Given the description of an element on the screen output the (x, y) to click on. 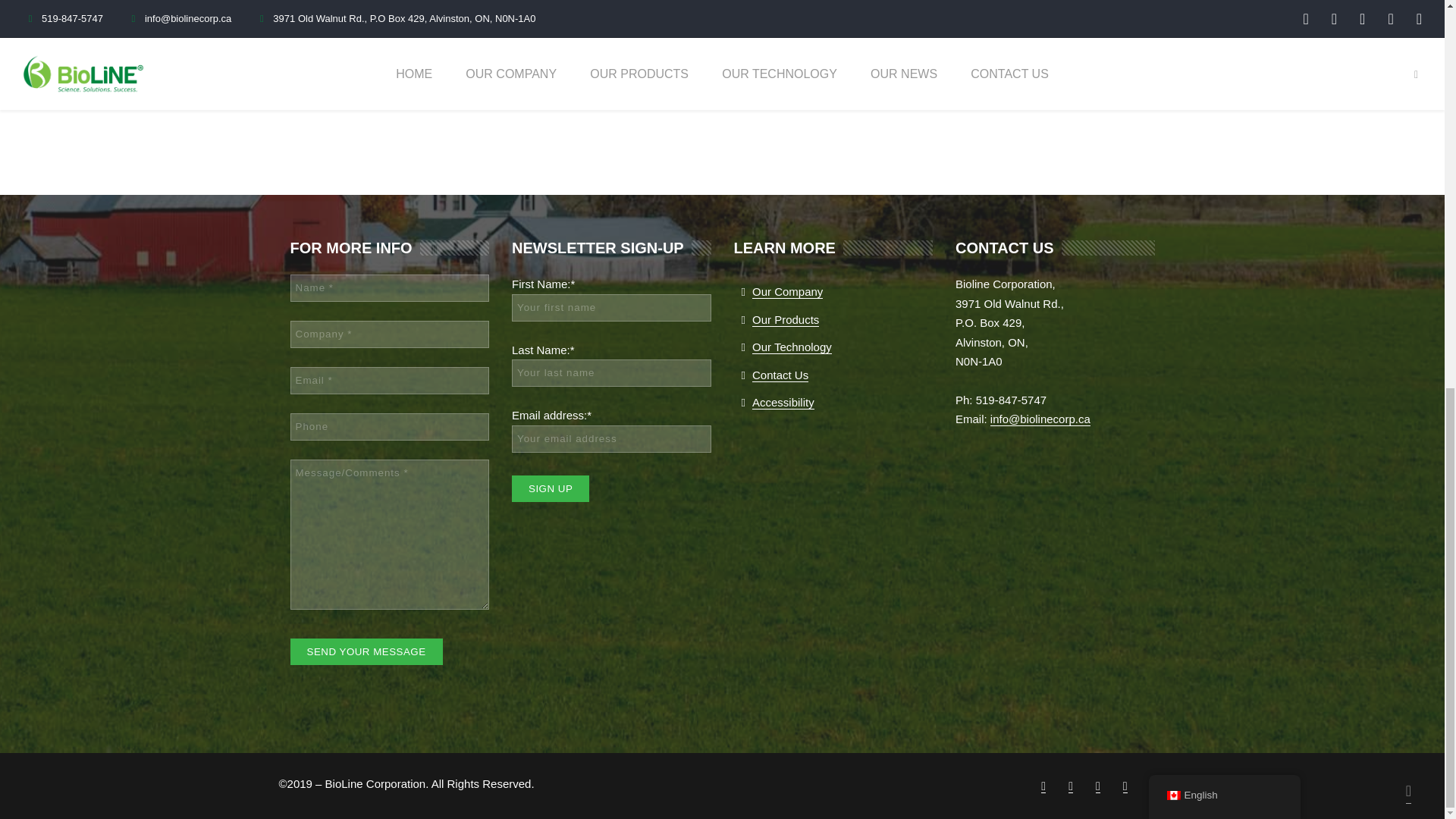
Sign up (550, 488)
Send Your Message (365, 651)
English (1224, 59)
English (1172, 58)
